Given the description of an element on the screen output the (x, y) to click on. 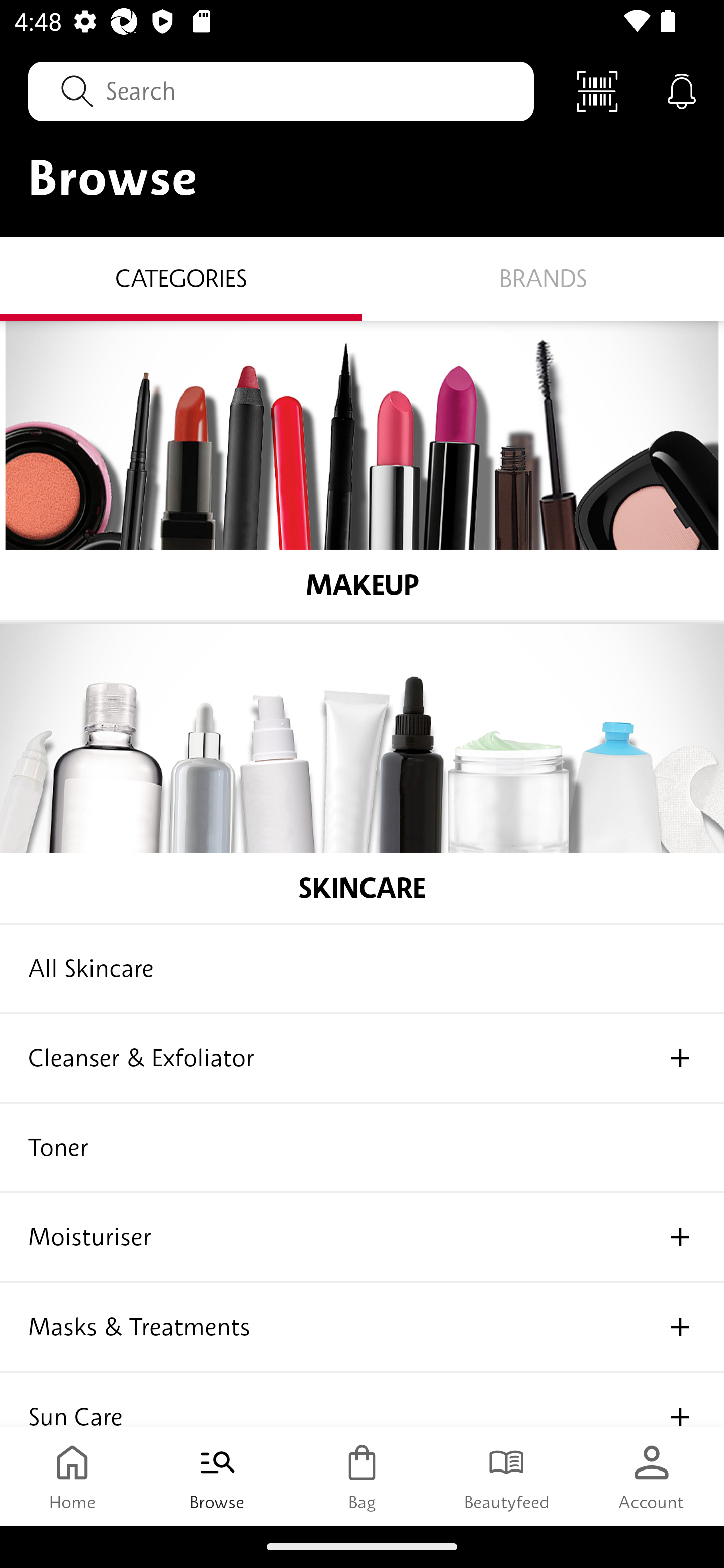
Scan Code (597, 90)
Notifications (681, 90)
Search (281, 90)
Brands BRANDS (543, 278)
MAKEUP (362, 471)
All Skincare (362, 969)
Cleanser & Exfoliator (362, 1058)
Toner (362, 1148)
Moisturiser (362, 1237)
Masks & Treatments (362, 1327)
Sun Care (362, 1399)
Home (72, 1475)
Bag (361, 1475)
Beautyfeed (506, 1475)
Account (651, 1475)
